Given the description of an element on the screen output the (x, y) to click on. 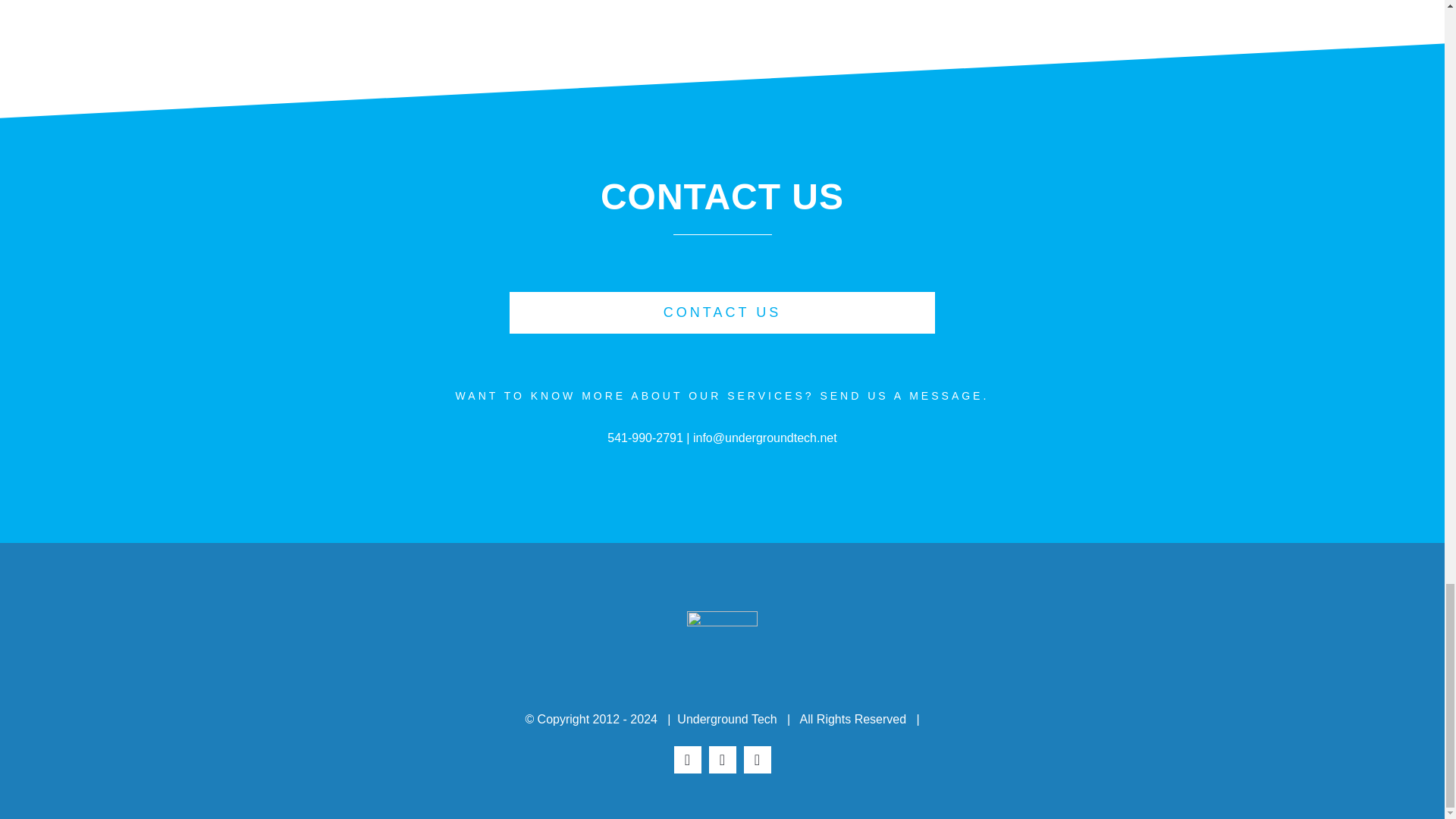
YouTube (756, 759)
Instagram (721, 759)
Instagram (721, 759)
Facebook (686, 759)
YouTube (756, 759)
Facebook (686, 759)
CONTACT US (722, 312)
